Given the description of an element on the screen output the (x, y) to click on. 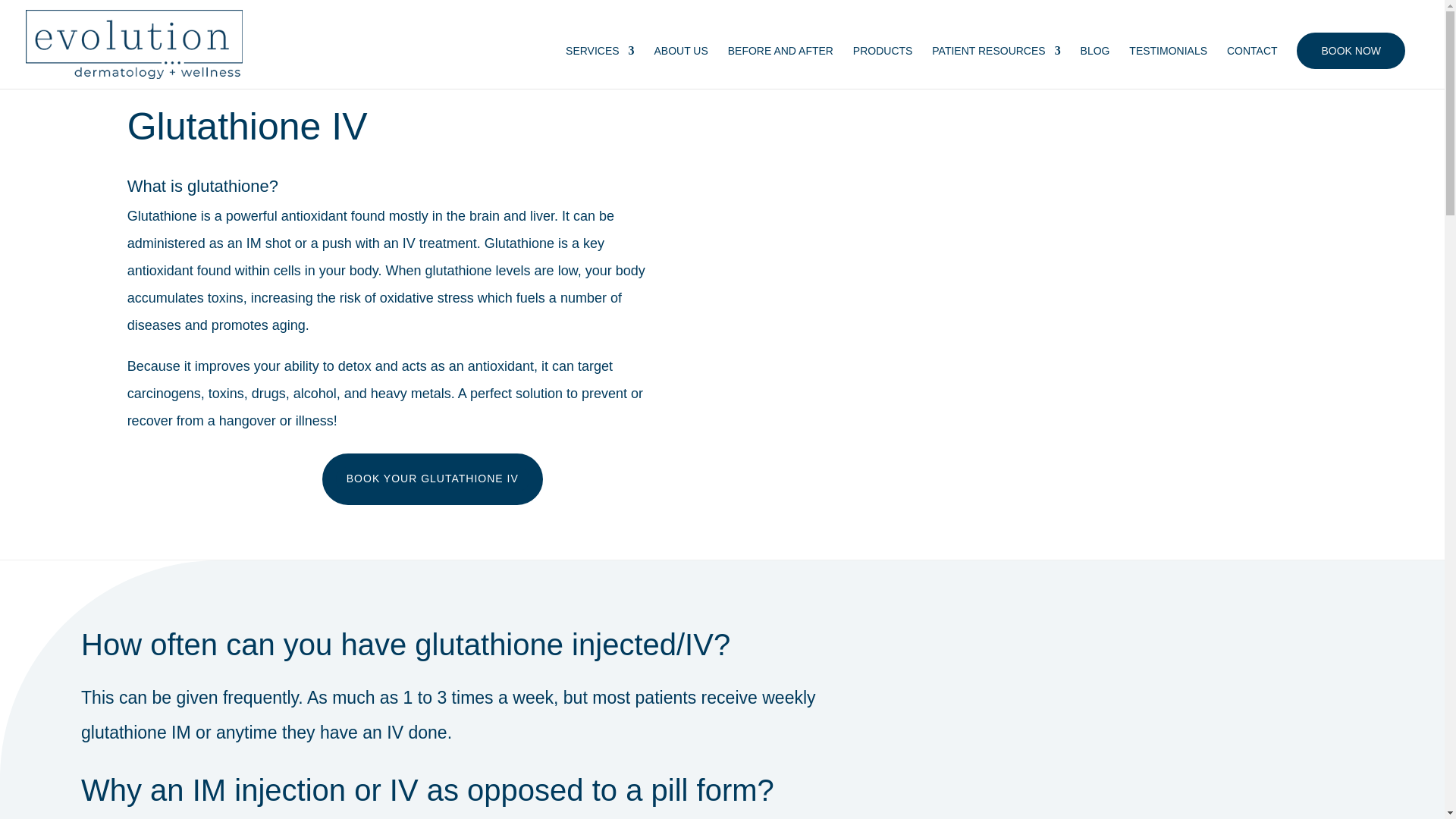
BEFORE AND AFTER (780, 66)
PRODUCTS (882, 66)
CONTACT (1252, 66)
SERVICES (600, 66)
BOOK NOW (1350, 50)
BOOK YOUR GLUTATHIONE IV (432, 479)
TESTIMONIALS (1168, 66)
ABOUT US (680, 66)
PATIENT RESOURCES (995, 66)
